Given the description of an element on the screen output the (x, y) to click on. 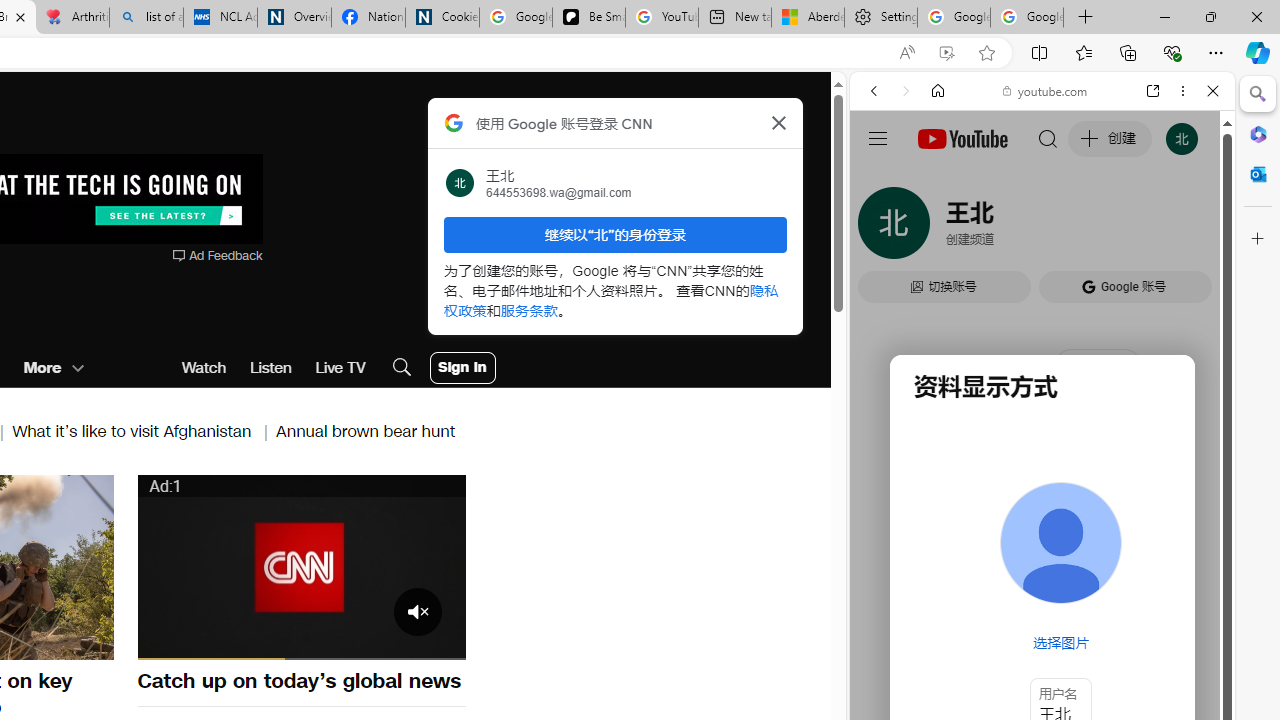
YouTube (1034, 296)
Music (1042, 543)
Annual brown bear hunt (365, 430)
Pause (164, 642)
Class: b_serphb (1190, 229)
Close Customize pane (1258, 239)
Enhance video (946, 53)
